Given the description of an element on the screen output the (x, y) to click on. 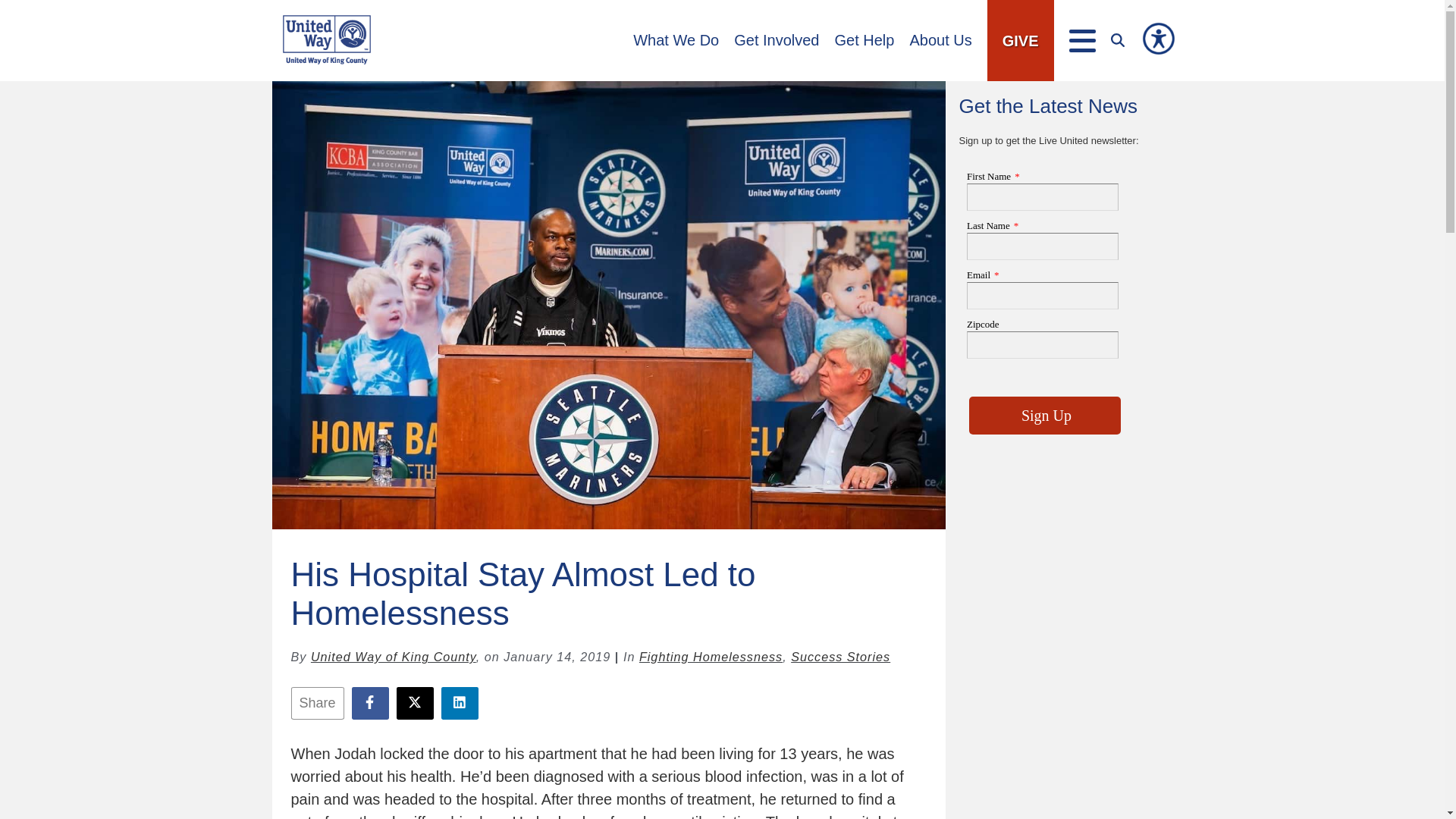
Accessibility (1157, 39)
GIVE (1020, 40)
About Us (939, 40)
Get Involved (775, 40)
What We Do (676, 40)
Get Help (863, 40)
